Given the description of an element on the screen output the (x, y) to click on. 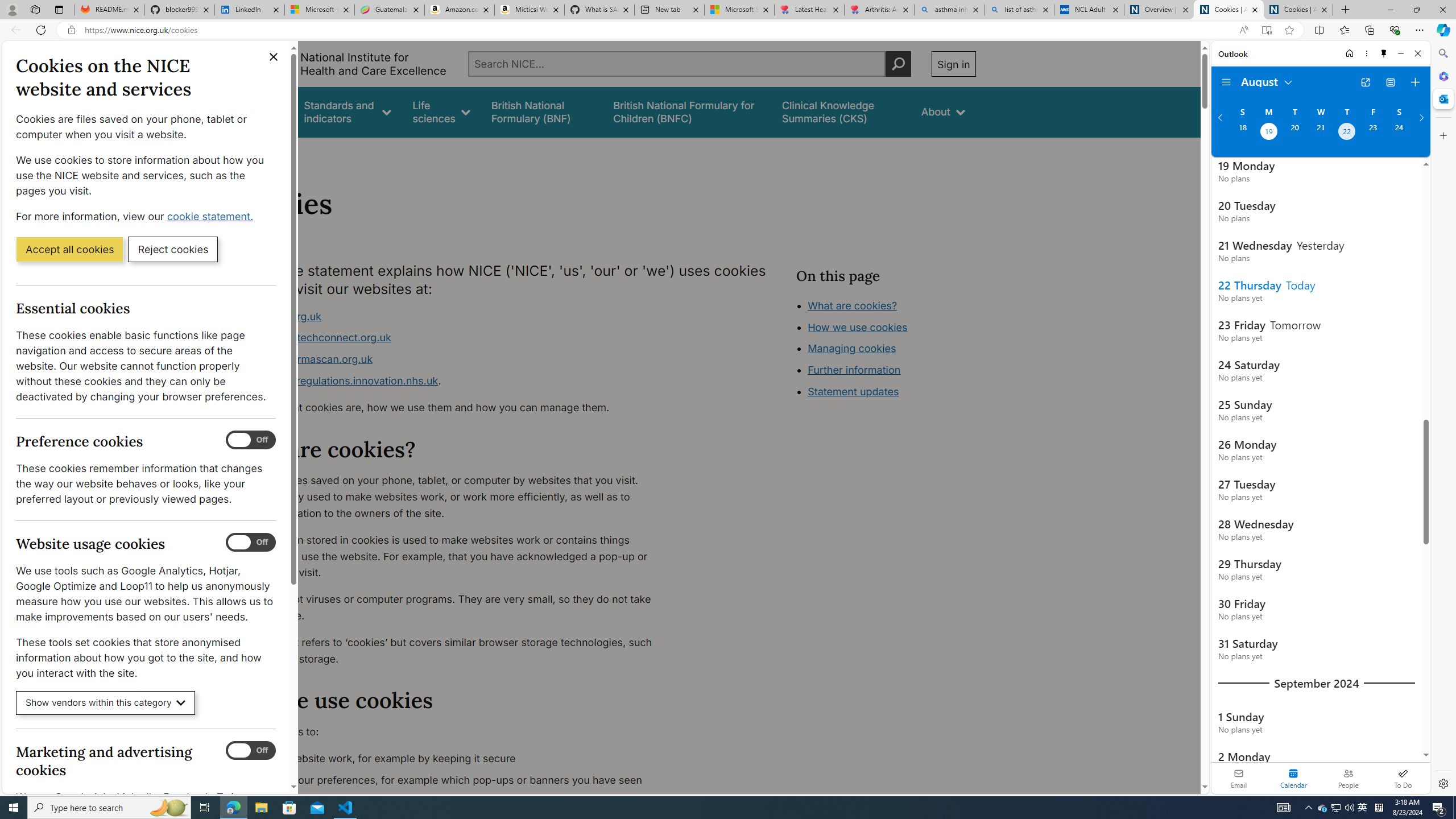
Reject cookies (173, 248)
www.ukpharmascan.org.uk (452, 359)
August (1267, 80)
How we use cookies (896, 389)
www.nice.org.uk (452, 316)
Life sciences (440, 111)
www.healthtechconnect.org.uk (314, 337)
Wednesday, August 21, 2024.  (1320, 132)
